Given the description of an element on the screen output the (x, y) to click on. 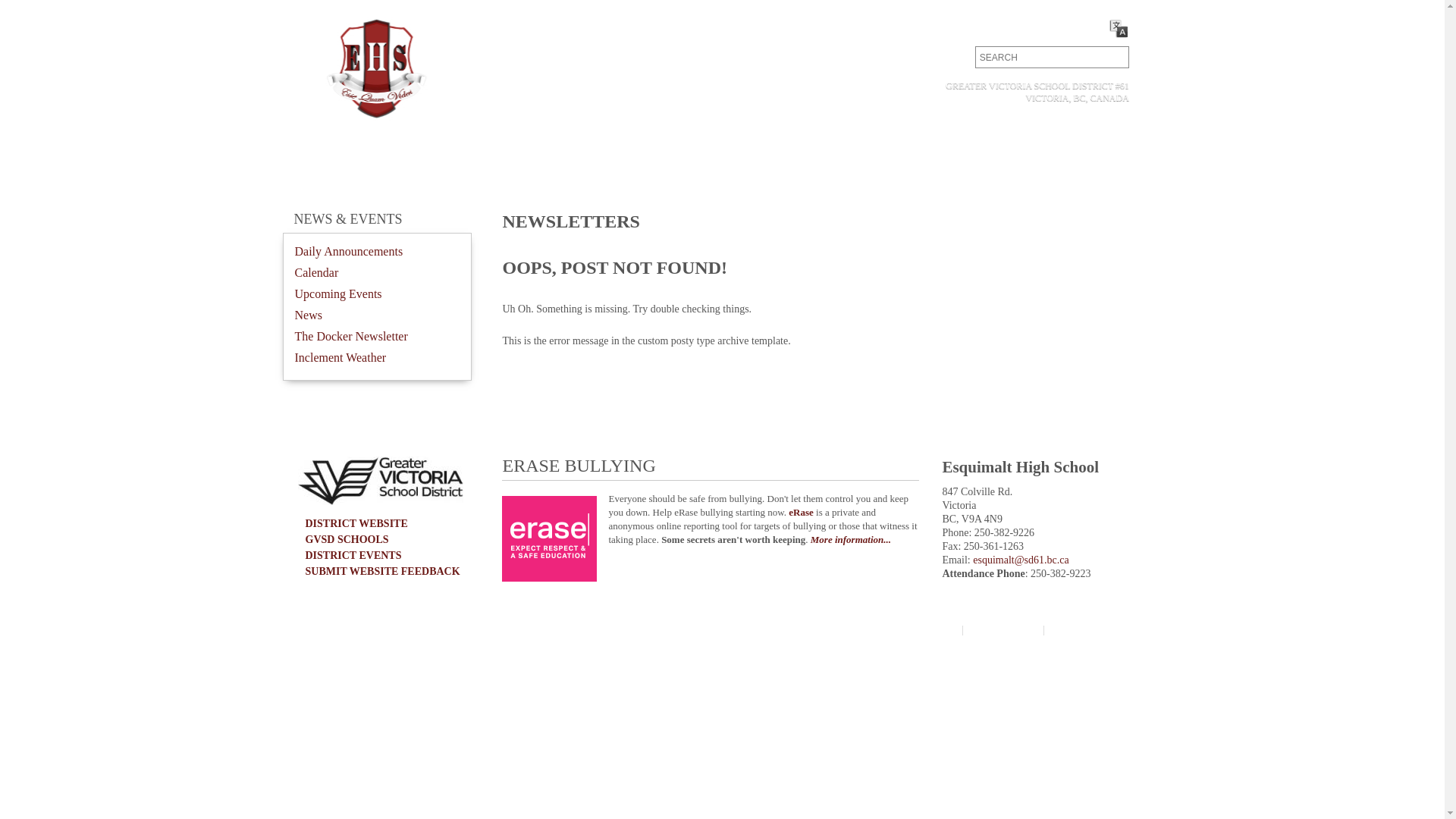
  Element type: text (1112, 57)
CREDITS Element type: text (1081, 630)
Upcoming Events Element type: text (337, 293)
SUBMIT WEBSITE FEEDBACK Element type: text (381, 571)
SITE INFO Element type: text (1002, 630)
ATTENDANCE Element type: text (991, 27)
More information... Element type: text (850, 539)
GVSD SCHOOLS Element type: text (346, 539)
DISTRICT EVENTS Element type: text (352, 555)
NEWS & EVENTS Element type: text (348, 218)
esquimalt@sd61.bc.ca Element type: text (1020, 559)
eRase Element type: text (800, 511)
DISTRICT WEBSITE Element type: text (355, 523)
GREATER VICTORIA SCHOOL DISTRICT Element type: text (411, 629)
The Docker Newsletter Element type: text (350, 335)
News Element type: text (307, 314)
Inclement Weather Element type: text (339, 357)
SITEMAP Element type: text (924, 630)
Daily Announcements Element type: text (348, 250)
Calendar Element type: text (316, 272)
CONTACT Element type: text (915, 27)
